Given the description of an element on the screen output the (x, y) to click on. 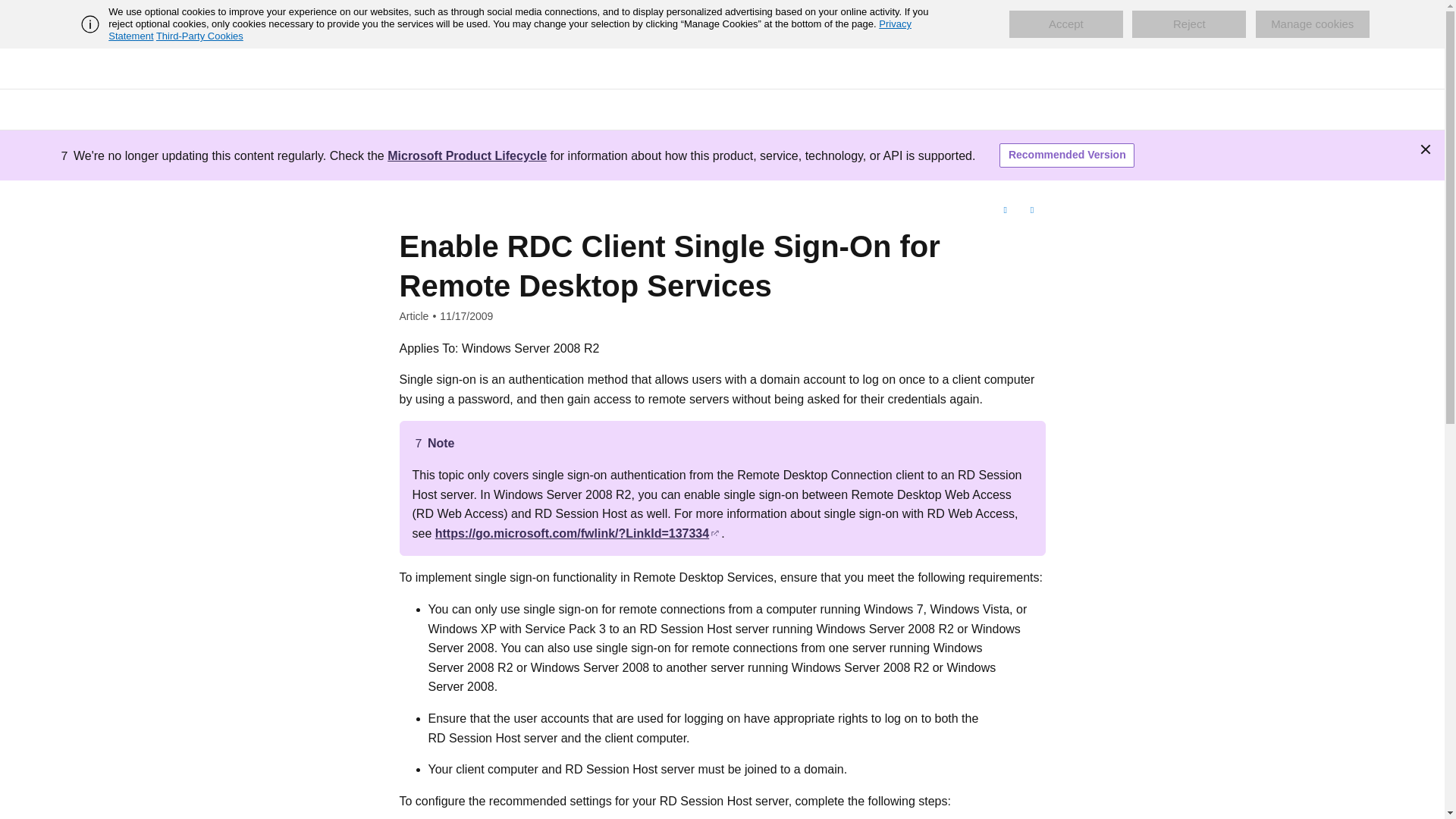
More actions (1031, 210)
Recommended Version (1066, 155)
Dismiss alert (1425, 149)
Accept (1065, 23)
Privacy Statement (509, 29)
Third-Party Cookies (199, 35)
Microsoft Product Lifecycle (467, 155)
Skip to main content (11, 11)
Manage cookies (1312, 23)
Reject (1189, 23)
